Given the description of an element on the screen output the (x, y) to click on. 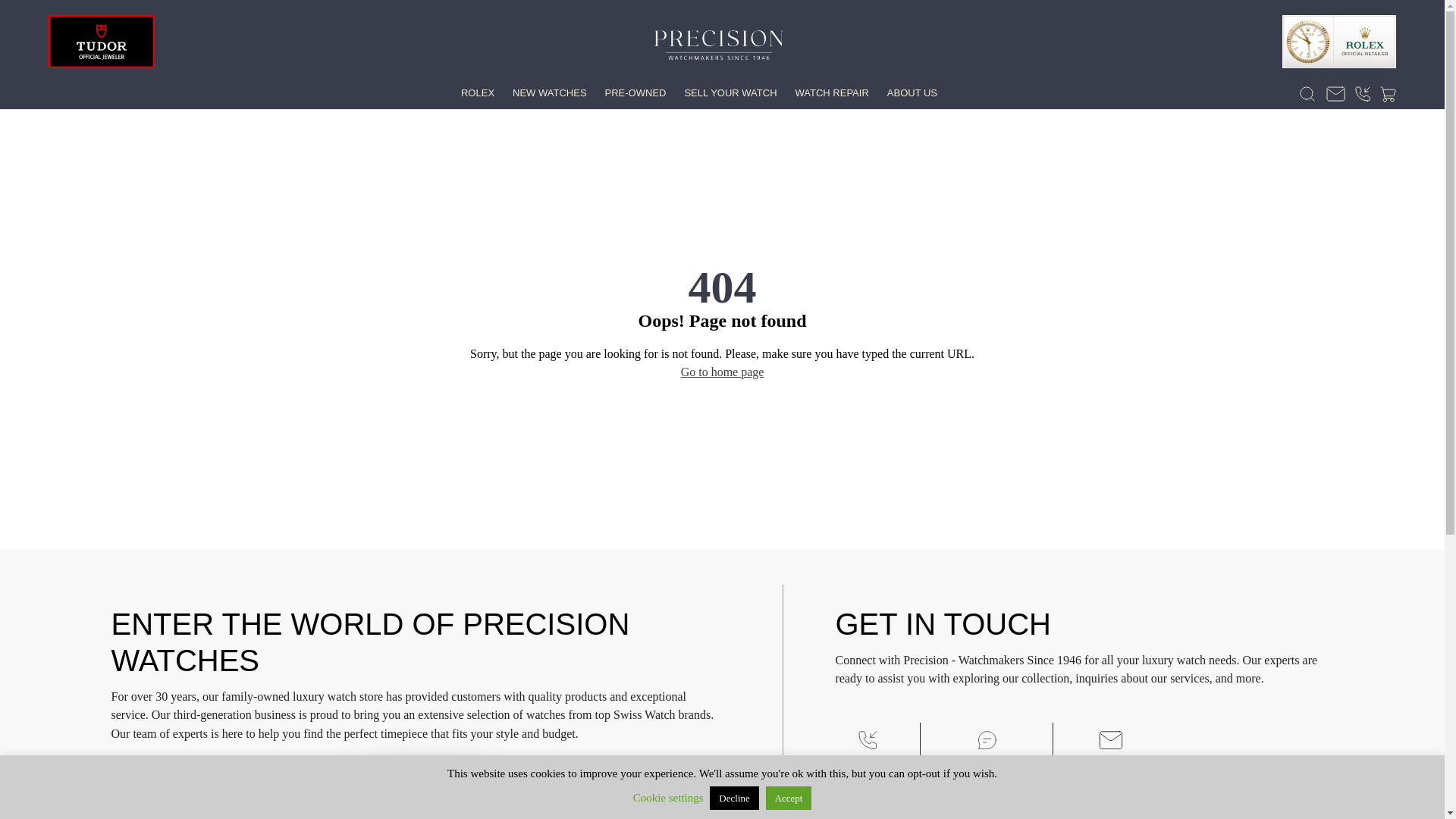
Subscribe (423, 789)
Rolex Official Retailer (1339, 41)
NEW WATCHES (549, 92)
PRE-OWNED (635, 92)
